Given the description of an element on the screen output the (x, y) to click on. 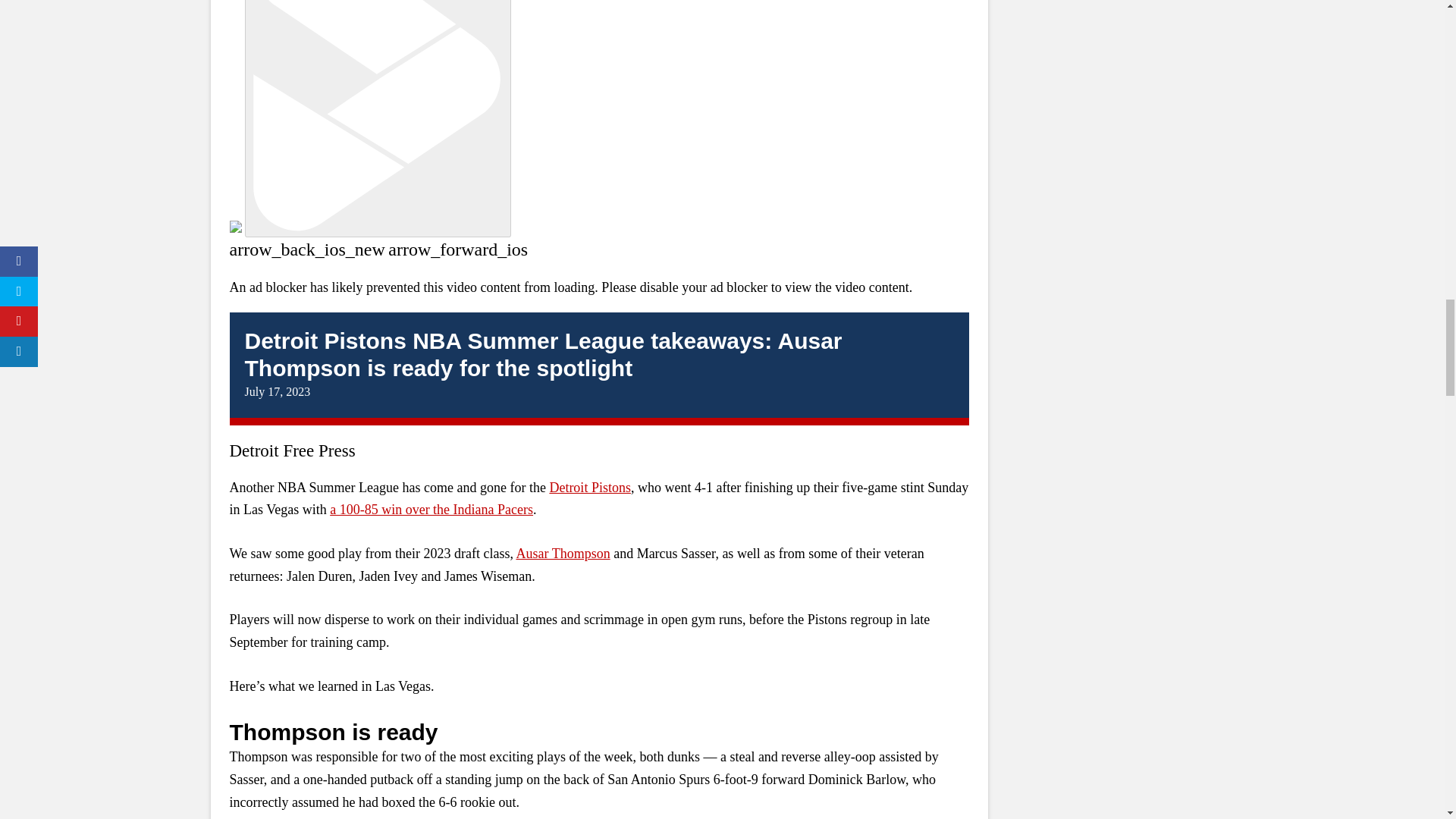
Detroit Free Press (291, 450)
